Given the description of an element on the screen output the (x, y) to click on. 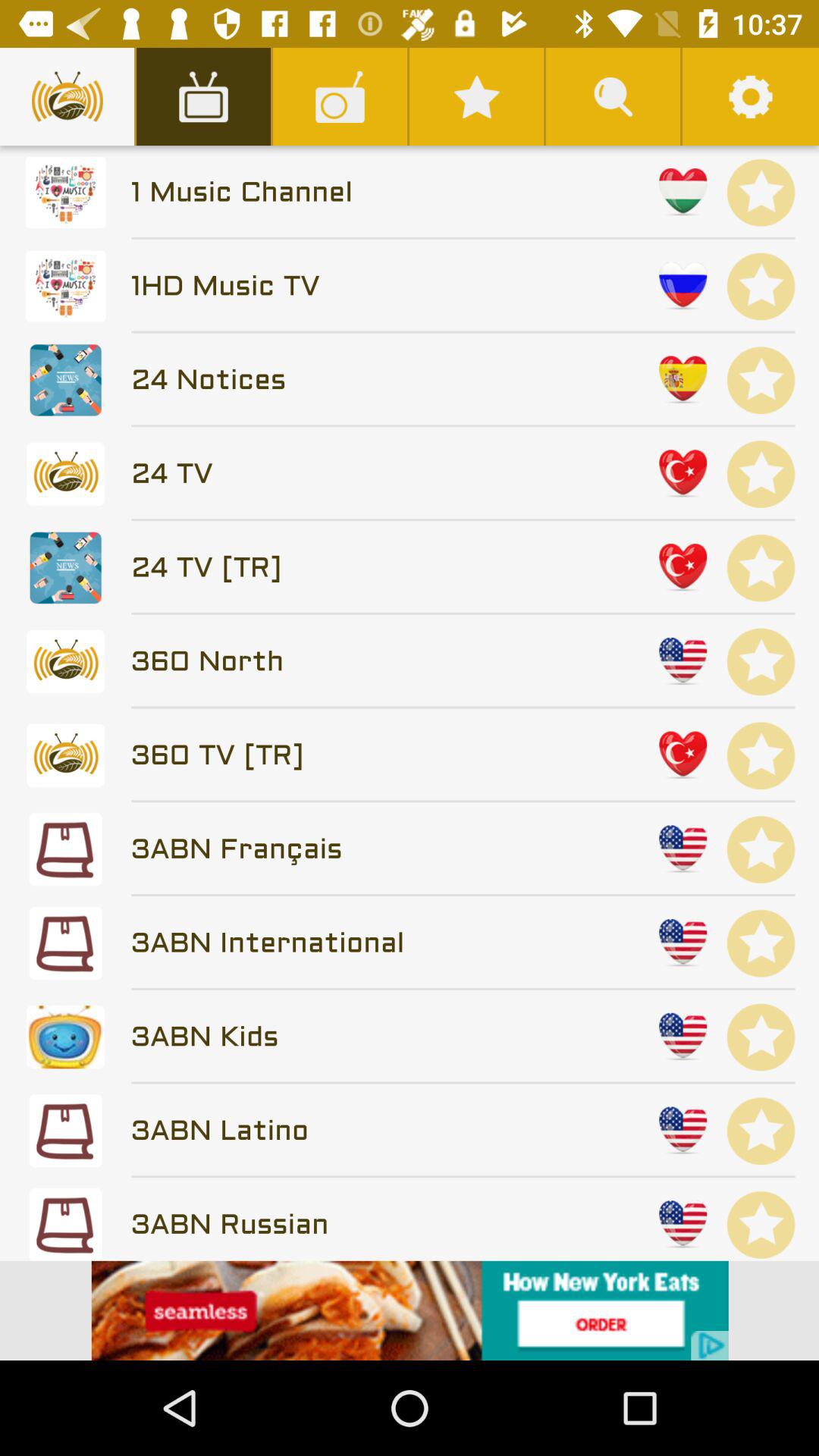
open advertisement (409, 1310)
